Given the description of an element on the screen output the (x, y) to click on. 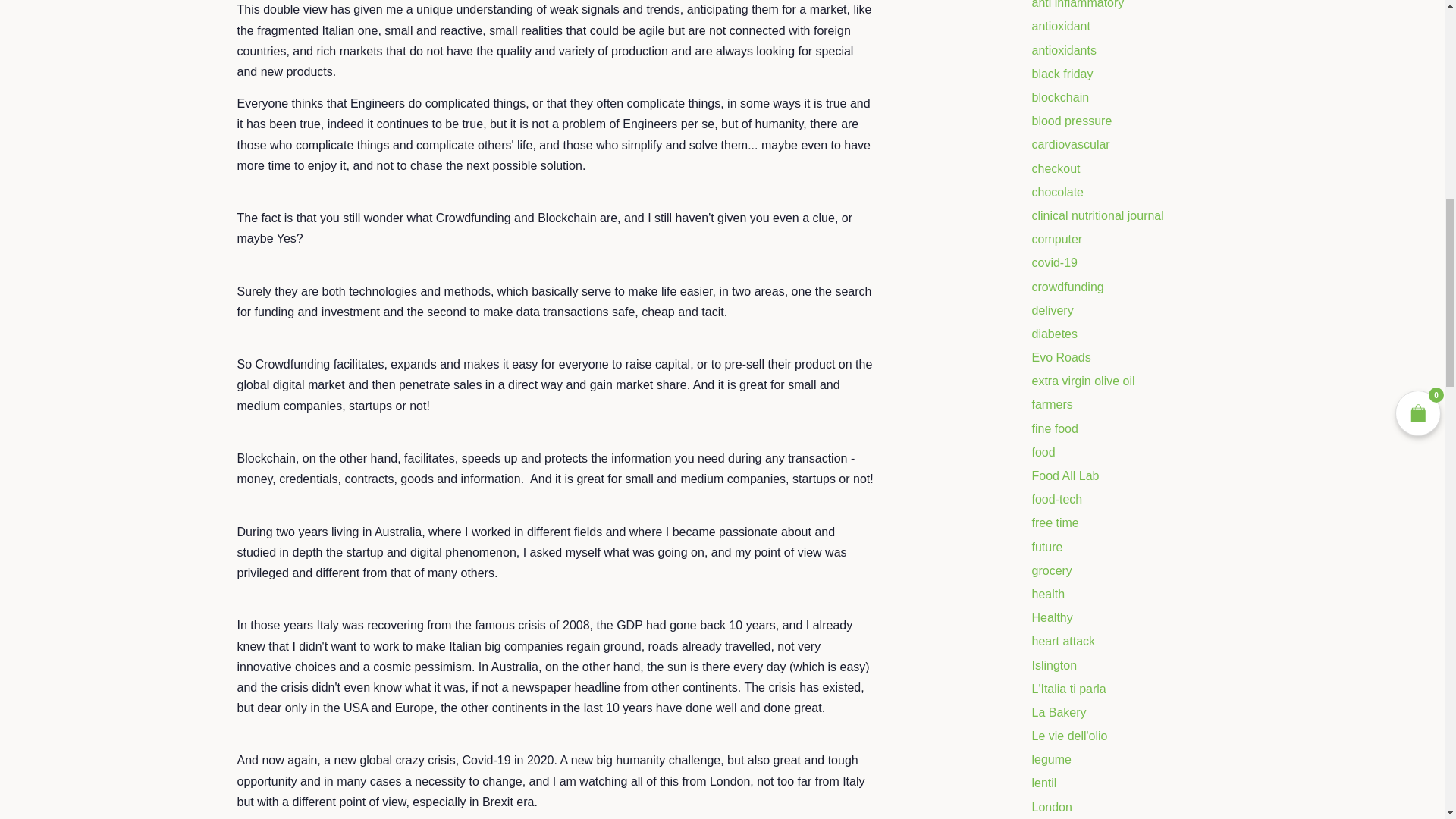
Show articles tagged checkout (1055, 168)
Show articles tagged blood pressure (1071, 120)
Show articles tagged cardiovascular (1069, 144)
Show articles tagged antioxidant (1059, 25)
Show articles tagged black friday (1061, 73)
Show articles tagged anti inflammatory (1077, 4)
Show articles tagged blockchain (1059, 97)
Show articles tagged antioxidants (1063, 50)
